Given the description of an element on the screen output the (x, y) to click on. 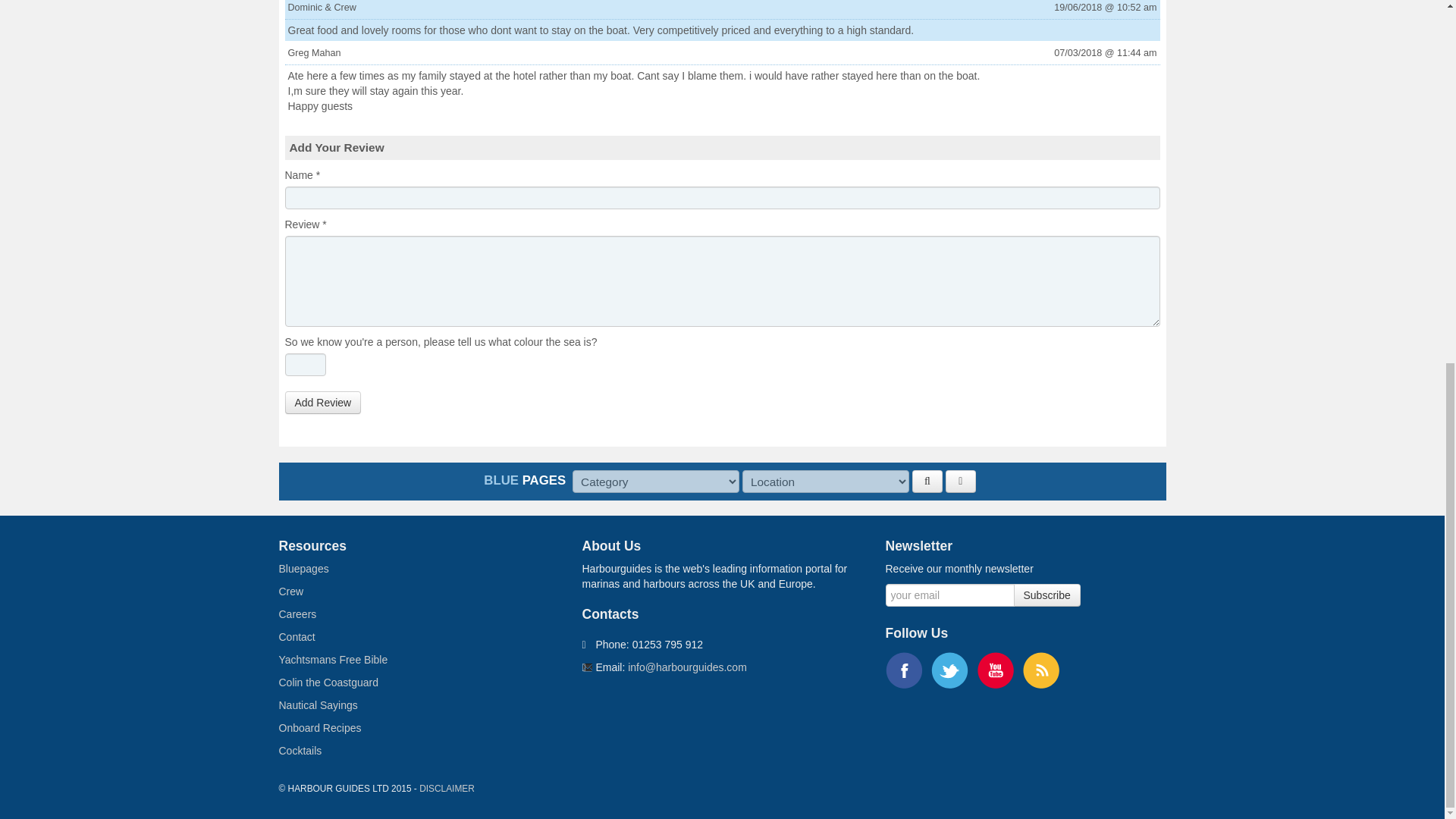
Colin the Coastguard (328, 682)
Crew (291, 591)
Yachtsmans Free Bible (333, 659)
Add Review (323, 402)
Contact (297, 636)
Add Review (323, 402)
Onboard Recipes (320, 727)
Bluepages (304, 568)
Careers (298, 613)
Nautical Sayings (318, 705)
